Given the description of an element on the screen output the (x, y) to click on. 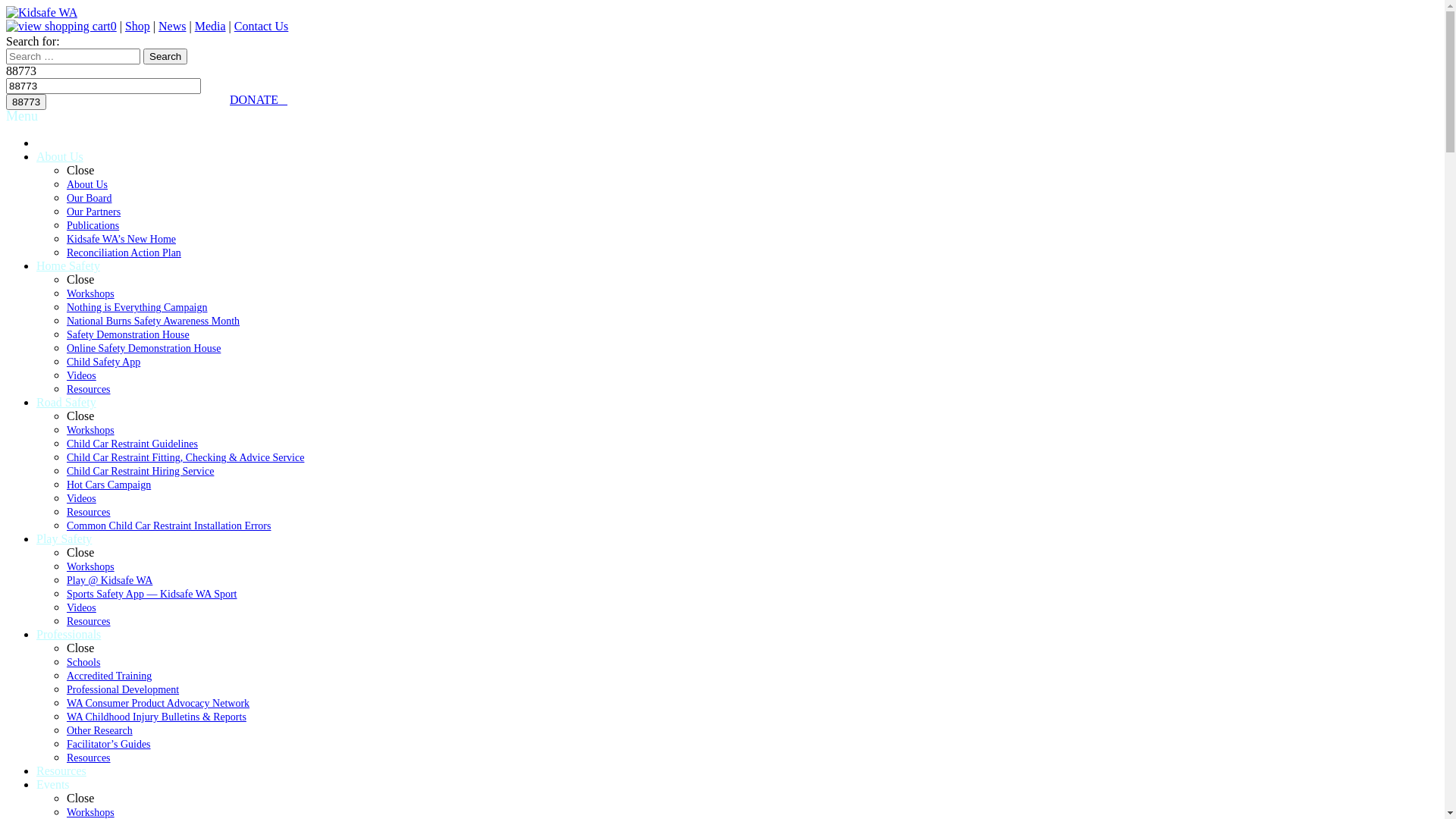
Common Child Car Restraint Installation Errors Element type: text (168, 525)
WA Childhood Injury Bulletins & Reports Element type: text (156, 716)
Publications Element type: text (92, 225)
Workshops Element type: text (90, 430)
Workshops Element type: text (90, 566)
Resources Element type: text (88, 389)
Safety Demonstration House Element type: text (127, 334)
Resources Element type: text (88, 511)
DONATE    Element type: text (258, 99)
About Us Element type: text (86, 184)
88773 Element type: text (26, 101)
Child Safety App Element type: text (103, 361)
Videos Element type: text (81, 498)
Hot Cars Campaign Element type: text (108, 484)
Online Safety Demonstration House Element type: text (143, 348)
Resources Element type: text (61, 770)
Other Research Element type: text (99, 730)
Child Car Restraint Hiring Service Element type: text (139, 471)
Media Element type: text (209, 25)
Nothing is Everything Campaign Element type: text (136, 307)
Our Partners Element type: text (93, 211)
Child Car Restraint Fitting, Checking & Advice Service Element type: text (185, 457)
Resources Element type: text (88, 757)
Home Safety Element type: text (68, 265)
Contact Us Element type: text (261, 25)
Our Board Element type: text (89, 198)
0 Element type: text (61, 25)
Search Element type: text (165, 56)
Schools Element type: text (83, 662)
Play Safety Element type: text (63, 538)
About Us Element type: text (59, 156)
Accredited Training Element type: text (108, 675)
Resources Element type: text (88, 621)
National Burns Safety Awareness Month Element type: text (152, 320)
Play @ Kidsafe WA Element type: text (109, 580)
Videos Element type: text (81, 375)
Videos Element type: text (81, 607)
WA Consumer Product Advocacy Network Element type: text (157, 703)
Menu Element type: text (21, 115)
Professional Development Element type: text (122, 689)
News Element type: text (171, 25)
Workshops Element type: text (90, 293)
Road Safety Element type: text (66, 401)
Shop Element type: text (137, 25)
Reconciliation Action Plan Element type: text (123, 252)
Child Car Restraint Guidelines Element type: text (131, 443)
Professionals Element type: text (68, 633)
